Given the description of an element on the screen output the (x, y) to click on. 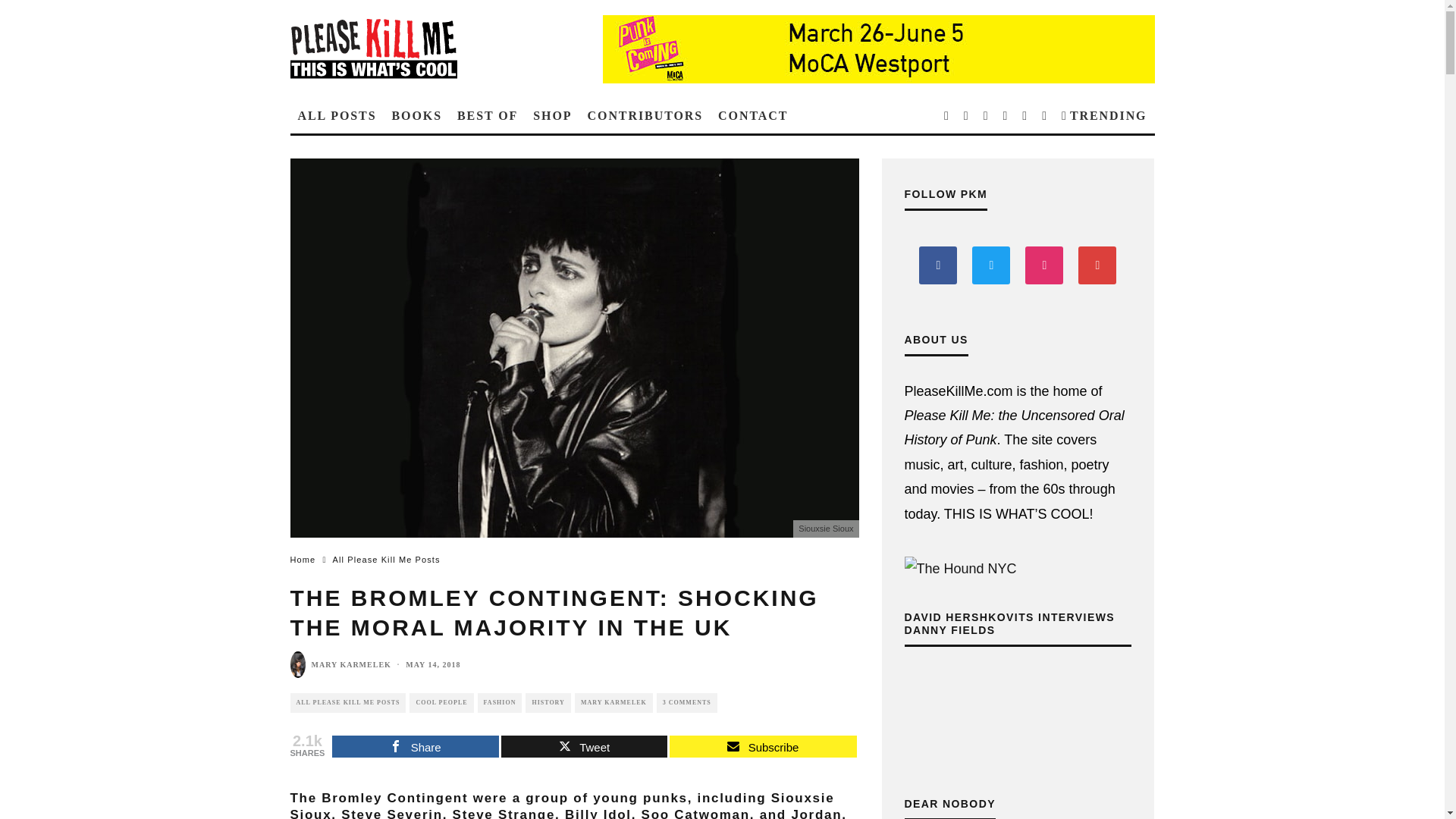
SHOP (552, 115)
BEST OF (487, 115)
ALL POSTS (336, 115)
CONTACT (752, 115)
BOOKS (416, 115)
CONTRIBUTORS (645, 115)
